Given the description of an element on the screen output the (x, y) to click on. 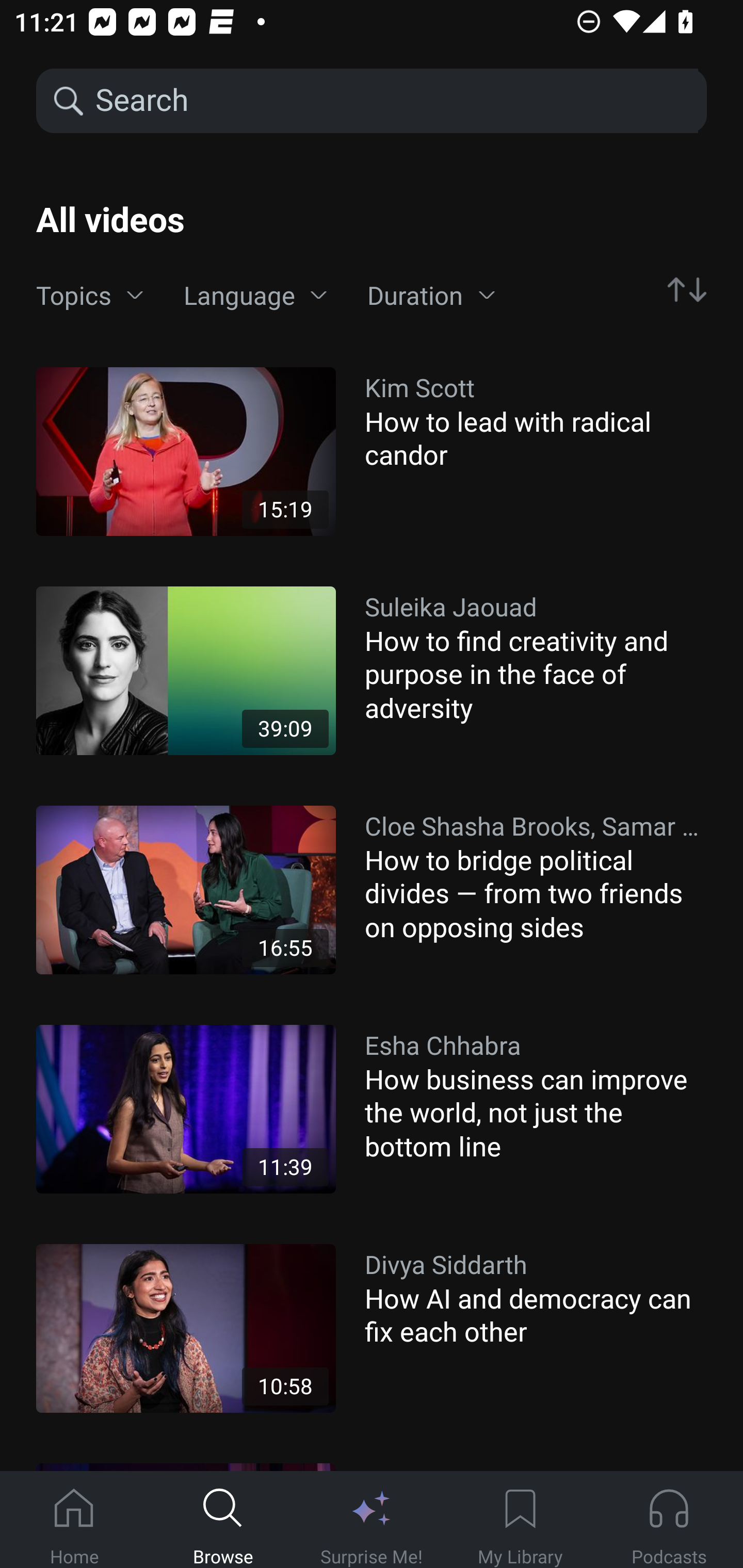
Search (395, 100)
Topics (90, 295)
Language (255, 295)
Duration (431, 295)
15:19 Kim Scott How to lead with radical candor (371, 451)
Home (74, 1520)
Browse (222, 1520)
Surprise Me! (371, 1520)
My Library (519, 1520)
Podcasts (668, 1520)
